Given the description of an element on the screen output the (x, y) to click on. 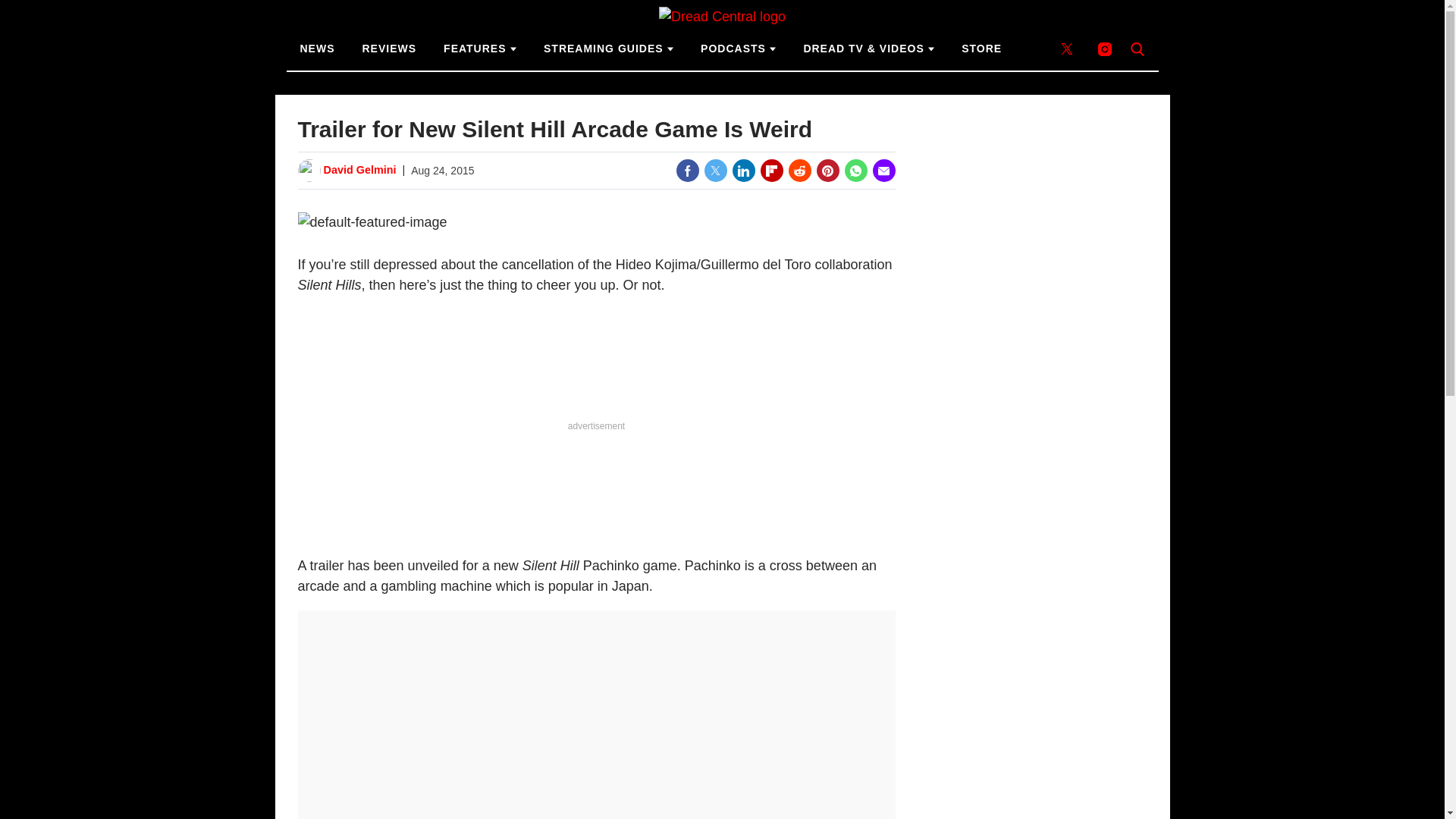
NEWS (317, 48)
FEATURES (479, 48)
PODCASTS (738, 48)
Share on Facebook (687, 169)
Share on Twitter (714, 169)
David Gelmini (359, 170)
Share on LinkedIn (743, 169)
Share on Reddit (799, 169)
Share on Flipboard (771, 169)
STORE (980, 48)
